Given the description of an element on the screen output the (x, y) to click on. 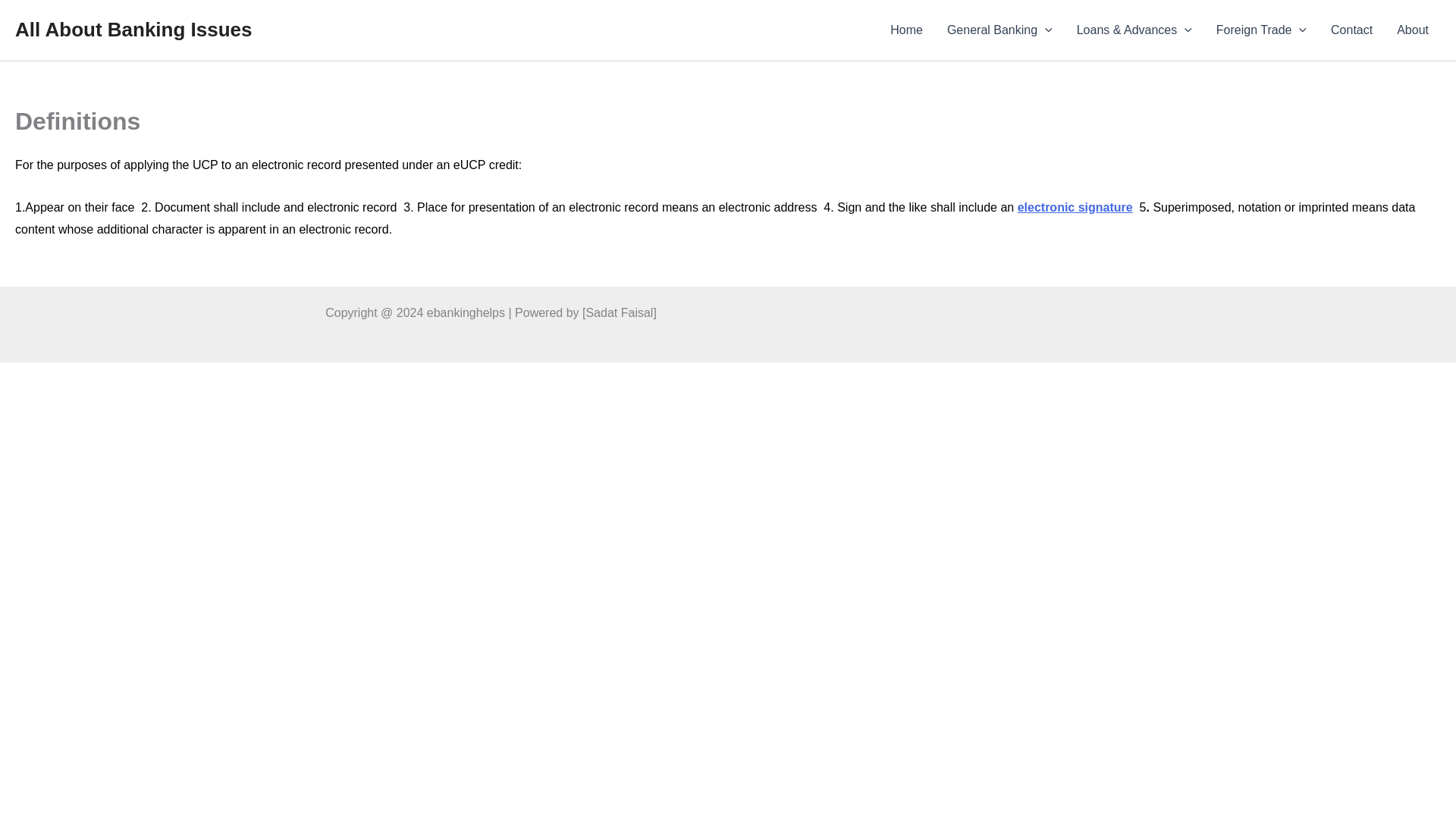
Home (905, 30)
General Banking (999, 30)
Contact (1351, 30)
All About Banking Issues (132, 29)
About (1412, 30)
Foreign Trade (1261, 30)
